Given the description of an element on the screen output the (x, y) to click on. 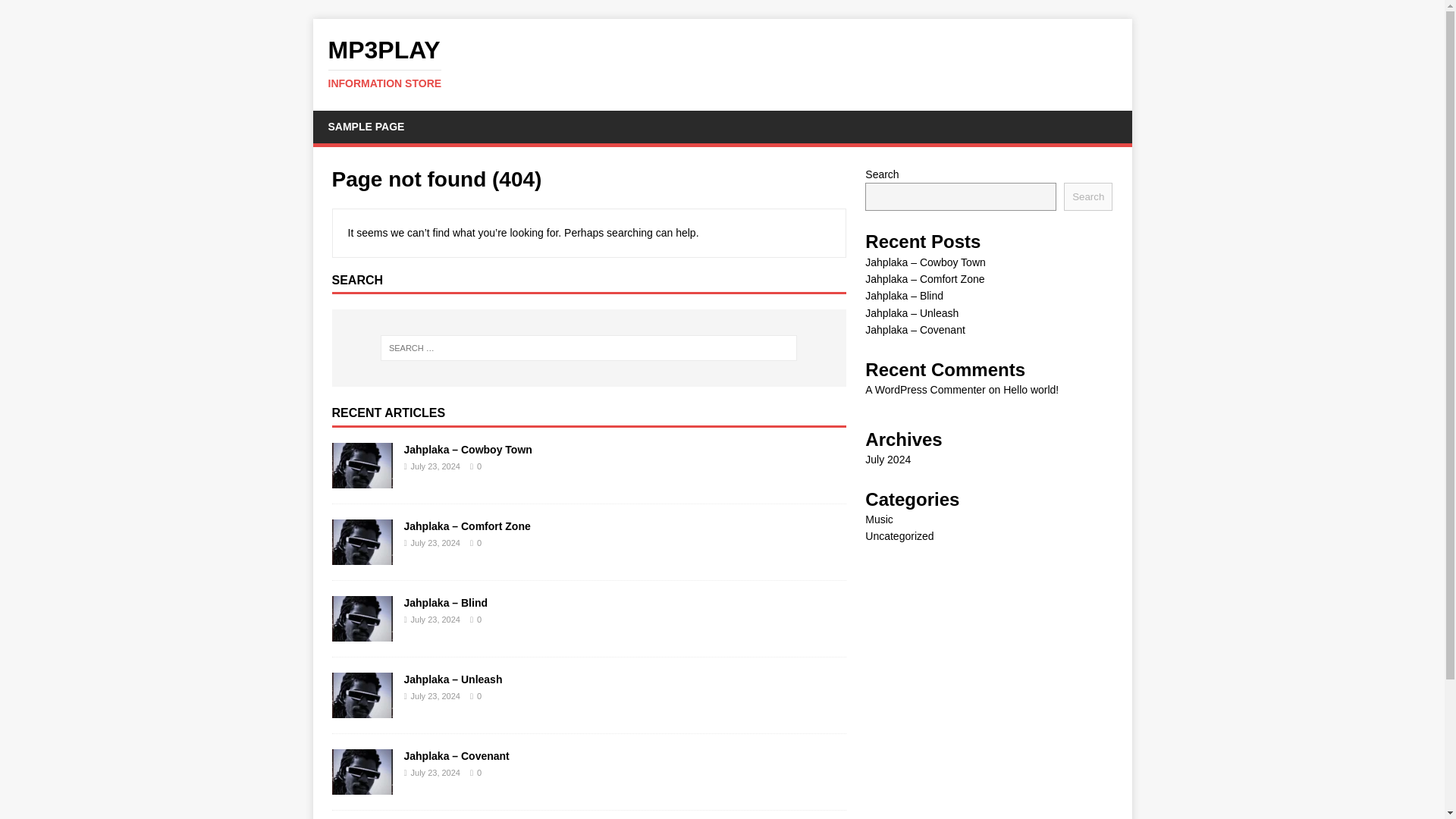
Uncategorized (721, 63)
Hello world! (898, 535)
Mp3Play (1030, 389)
SAMPLE PAGE (721, 63)
Search (366, 126)
Music (1088, 196)
July 2024 (878, 519)
Search (887, 459)
A WordPress Commenter (56, 11)
